Given the description of an element on the screen output the (x, y) to click on. 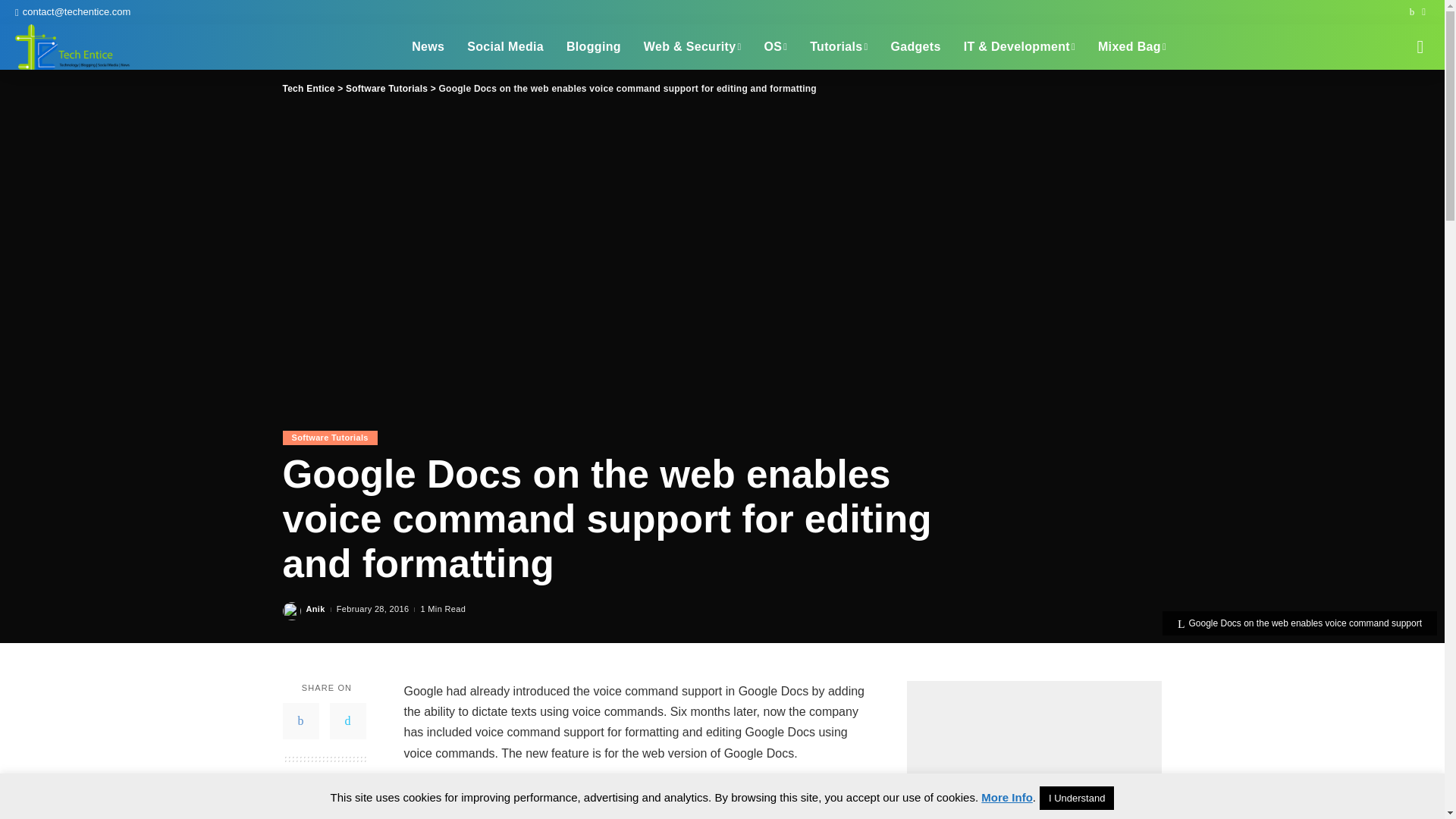
Tech Entice (72, 46)
